Given the description of an element on the screen output the (x, y) to click on. 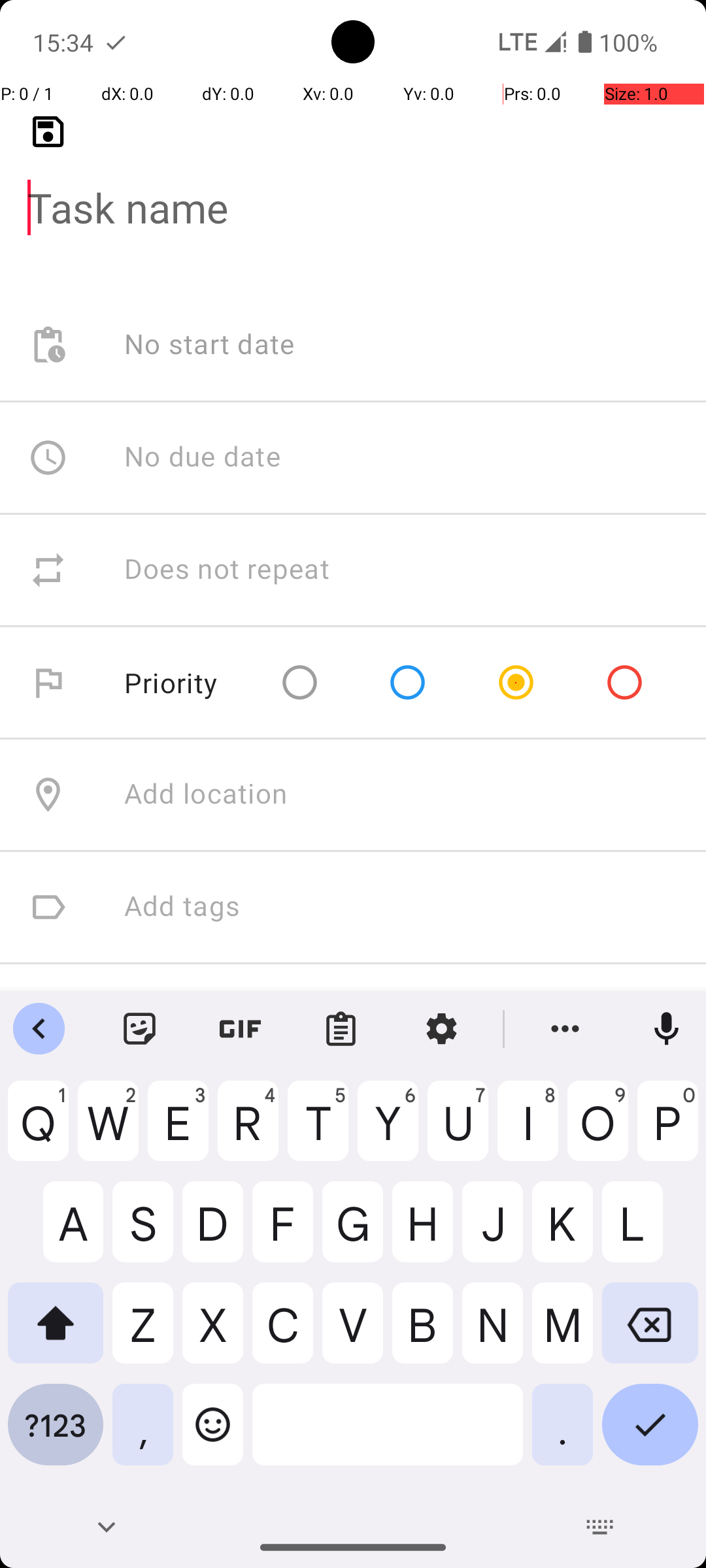
Task name Element type: android.widget.EditText (353, 186)
No due date Element type: android.widget.TextView (202, 457)
No start date Element type: android.widget.TextView (209, 344)
